Given the description of an element on the screen output the (x, y) to click on. 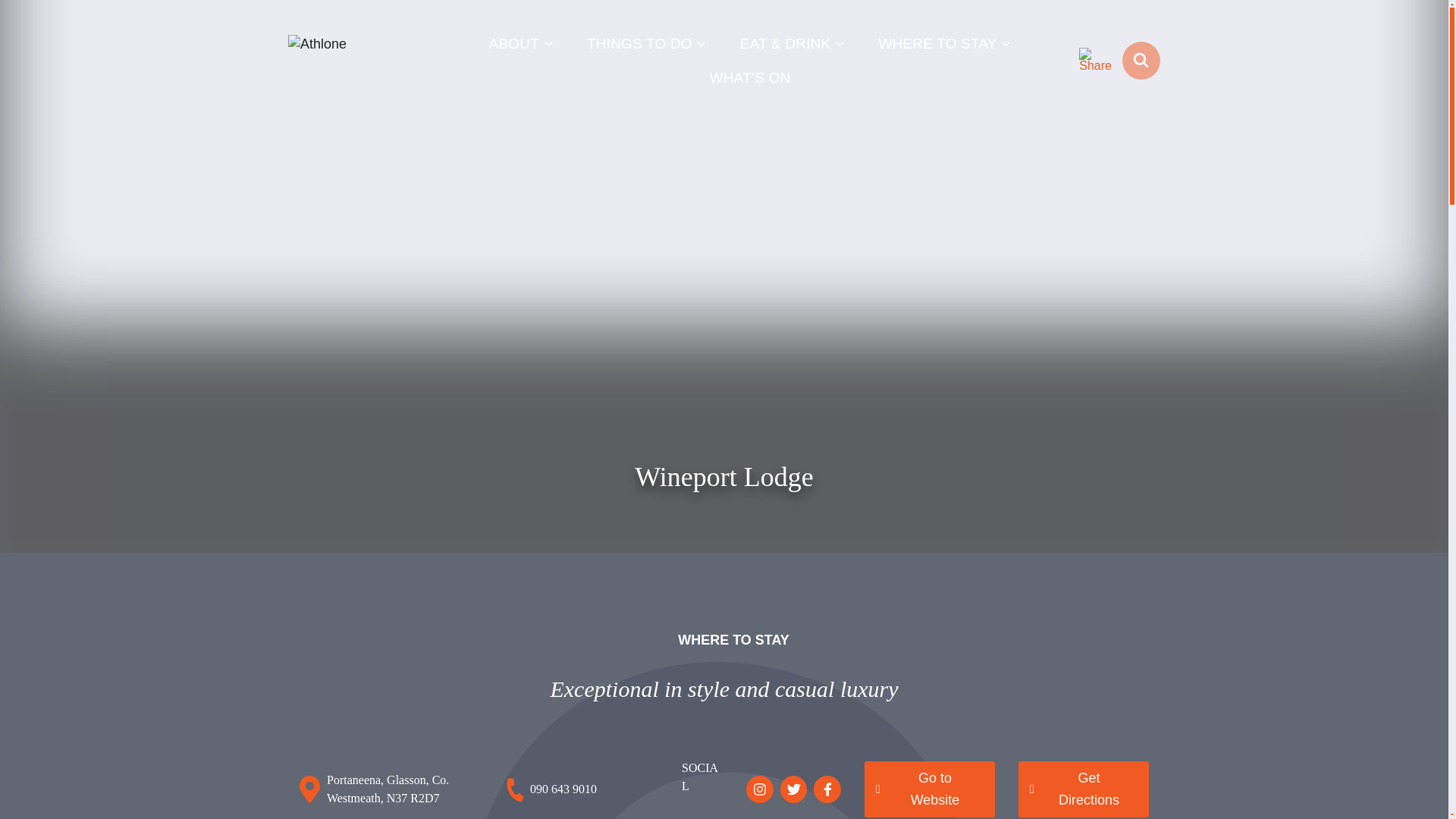
ABOUT (520, 43)
THINGS TO DO (646, 43)
090 643 9010 (560, 789)
WHERE TO STAY (944, 43)
